Given the description of an element on the screen output the (x, y) to click on. 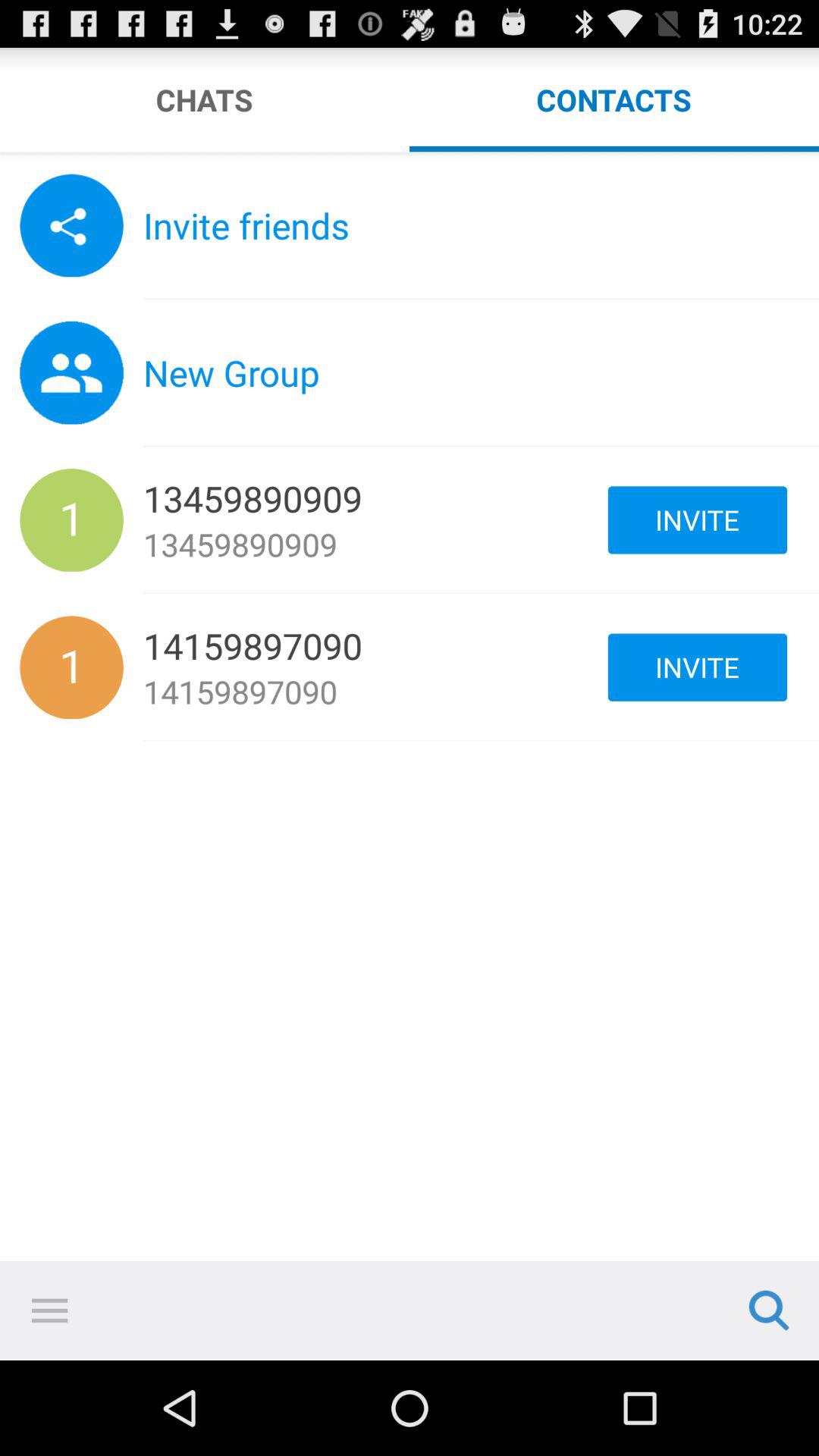
turn on the icon below the chats icon (409, 155)
